Given the description of an element on the screen output the (x, y) to click on. 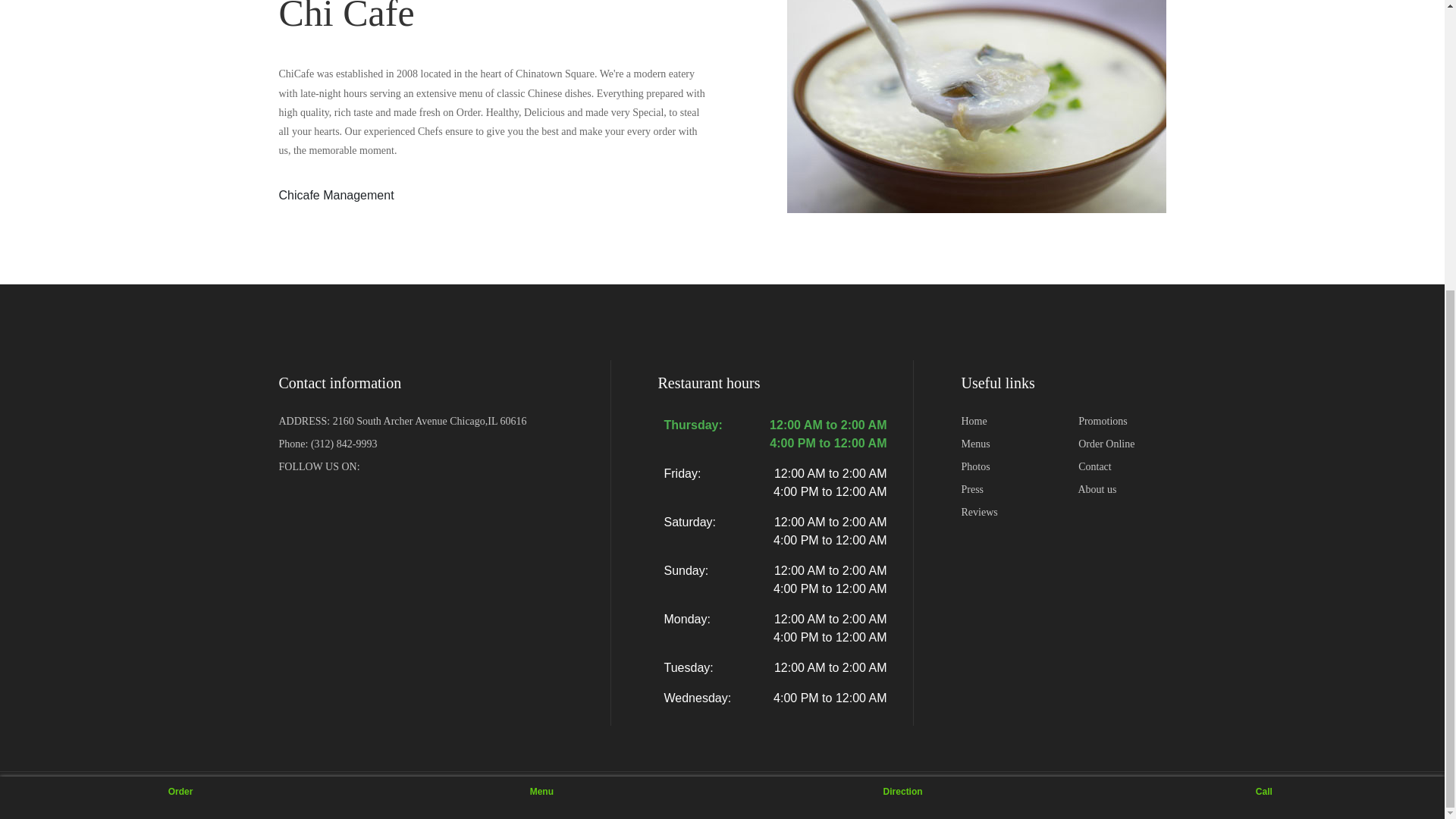
Photos (975, 466)
Menu (541, 355)
Press (972, 489)
2160 South Archer Avenue Chicago,IL 60616 (430, 420)
Menus (975, 443)
Order Online (1106, 443)
Promotions (1102, 420)
Order (180, 355)
About us (1096, 489)
Contact (1095, 466)
Get Directions (430, 420)
Home (973, 420)
Reviews (978, 511)
Get Directions (902, 355)
ipos.net (386, 794)
